Given the description of an element on the screen output the (x, y) to click on. 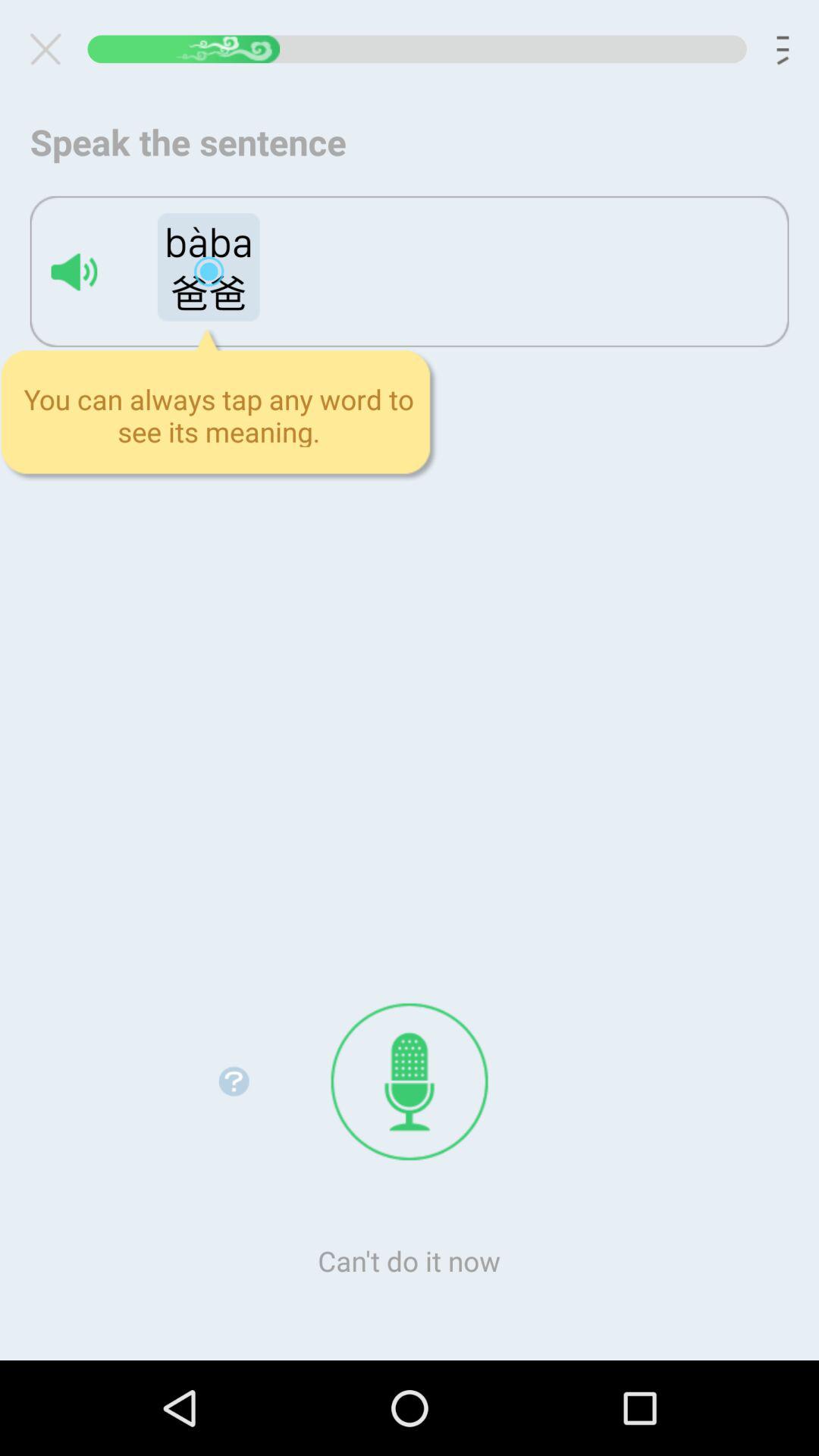
toggle microphone (409, 1081)
